Given the description of an element on the screen output the (x, y) to click on. 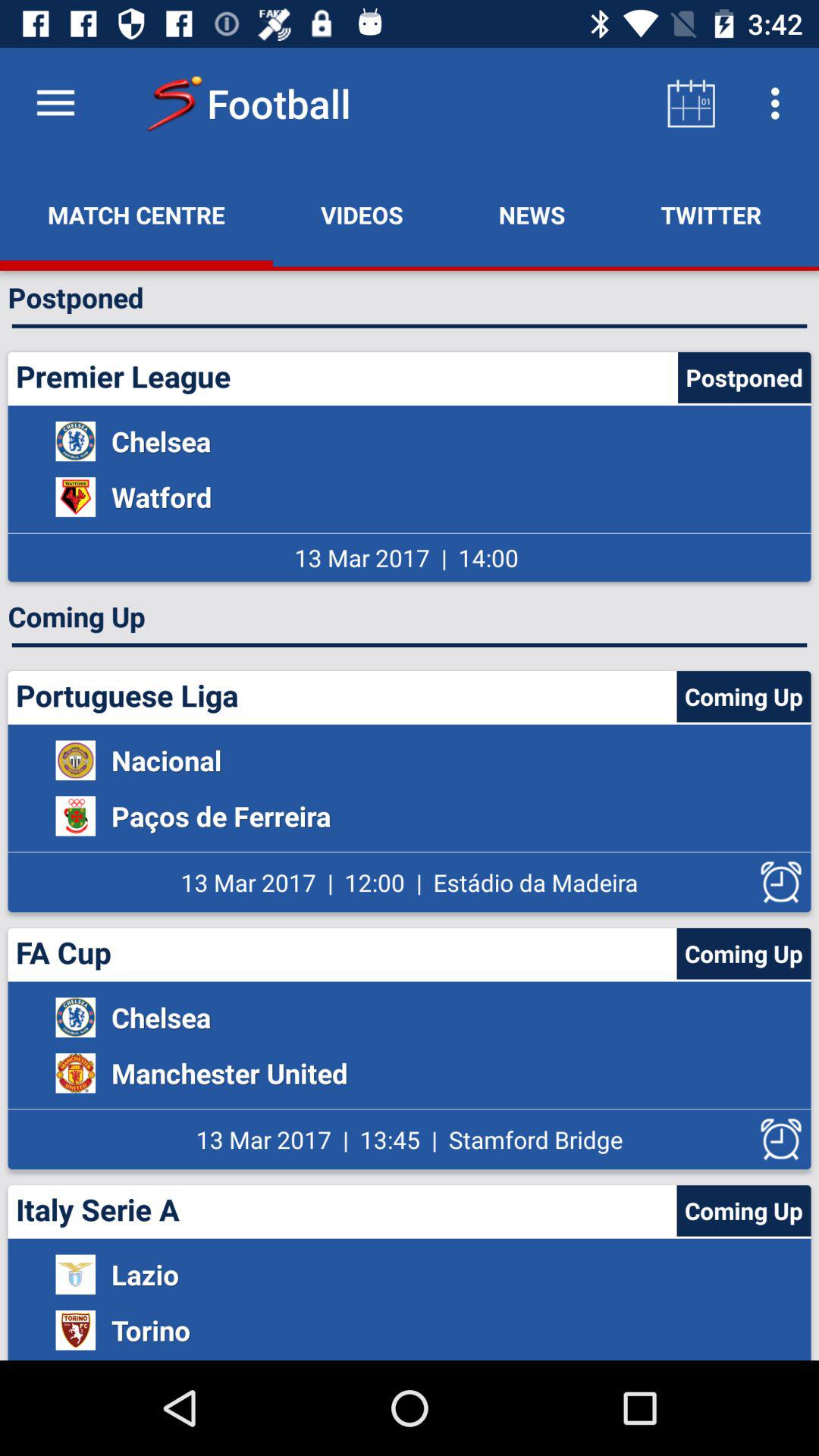
turn on item above postponed item (362, 214)
